Given the description of an element on the screen output the (x, y) to click on. 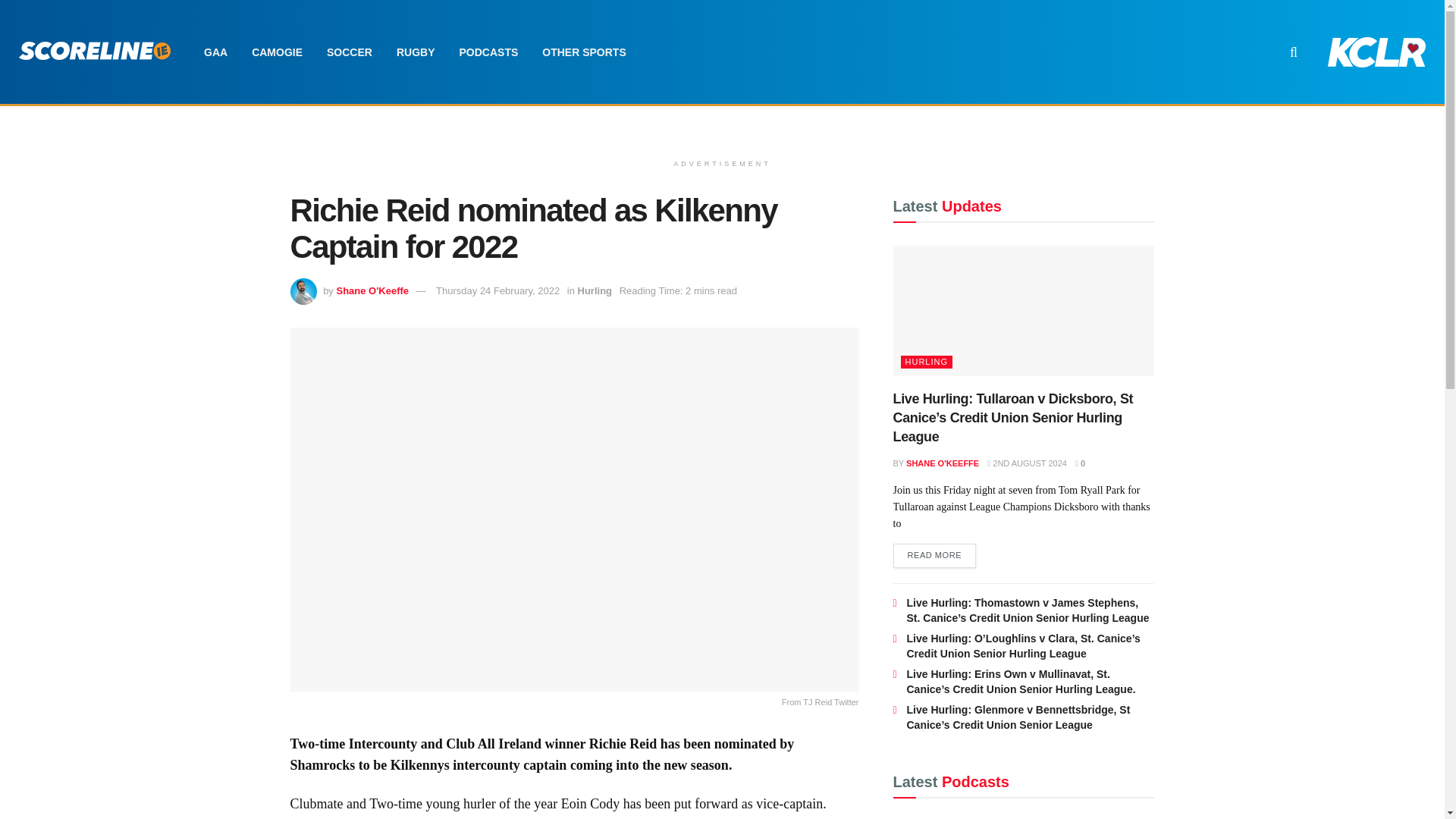
RUGBY (415, 52)
PODCASTS (487, 52)
Hurling (595, 290)
OTHER SPORTS (583, 52)
READ MORE (934, 555)
SHANE O'KEEFFE (941, 462)
GAA (216, 52)
Thursday 24 February, 2022 (497, 290)
SOCCER (349, 52)
CAMOGIE (277, 52)
2ND AUGUST 2024 (1027, 462)
0 (1079, 462)
HURLING (927, 361)
Shane O'Keeffe (372, 290)
